Given the description of an element on the screen output the (x, y) to click on. 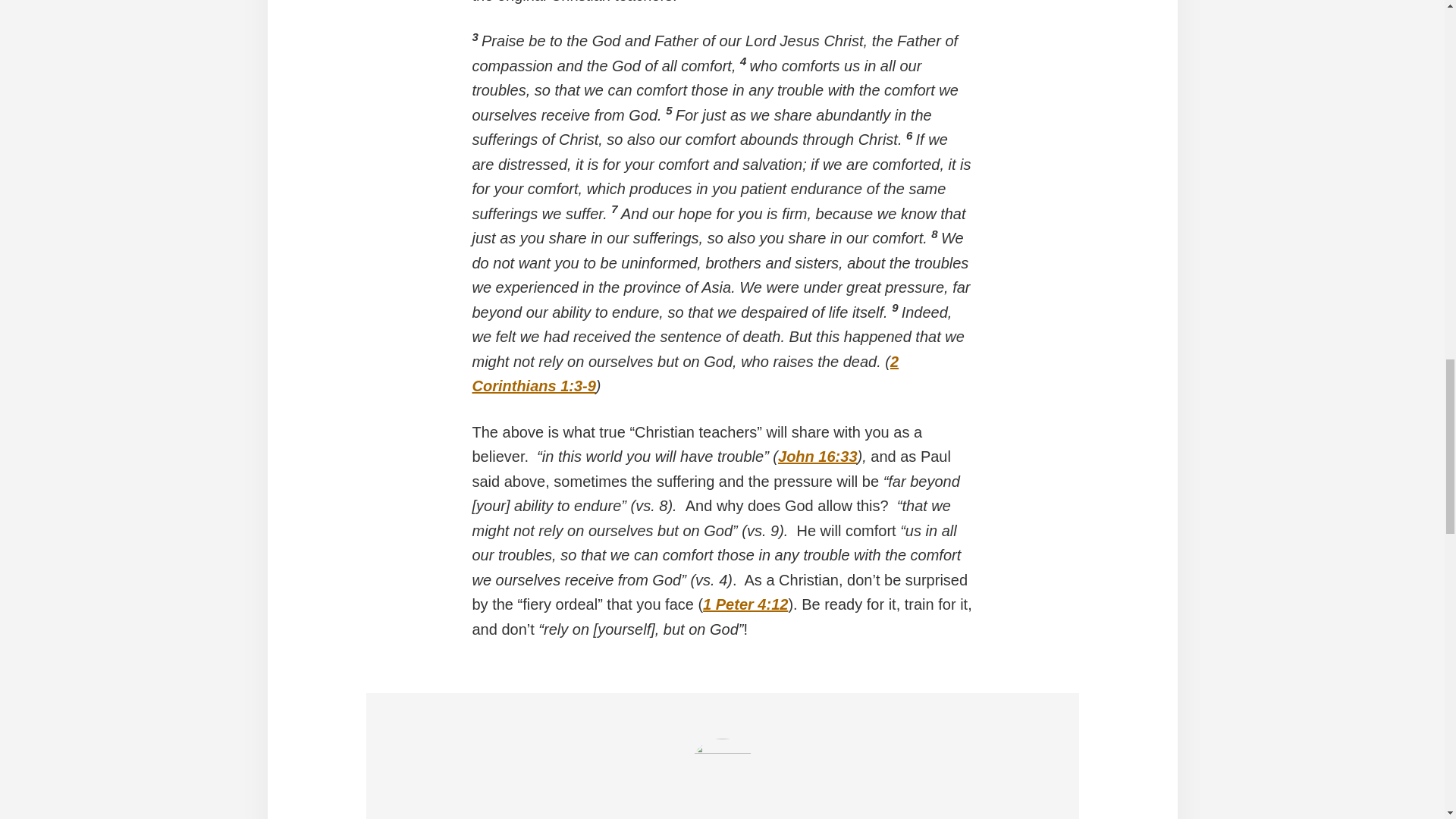
2 Corinthians 1:3-9 (684, 373)
John 16:33 (817, 456)
1 Peter 4:12 (745, 604)
